Given the description of an element on the screen output the (x, y) to click on. 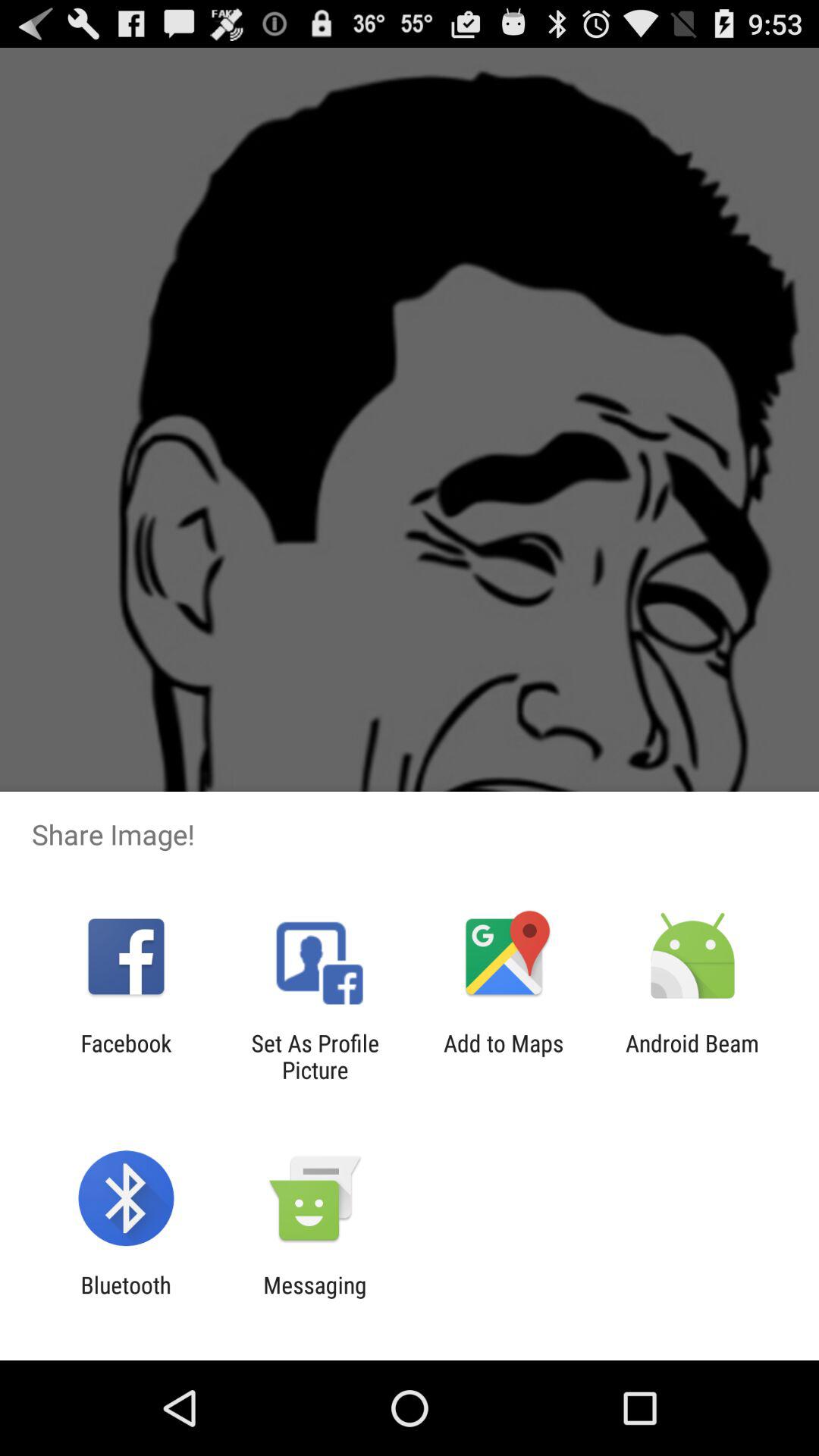
choose item next to facebook app (314, 1056)
